Given the description of an element on the screen output the (x, y) to click on. 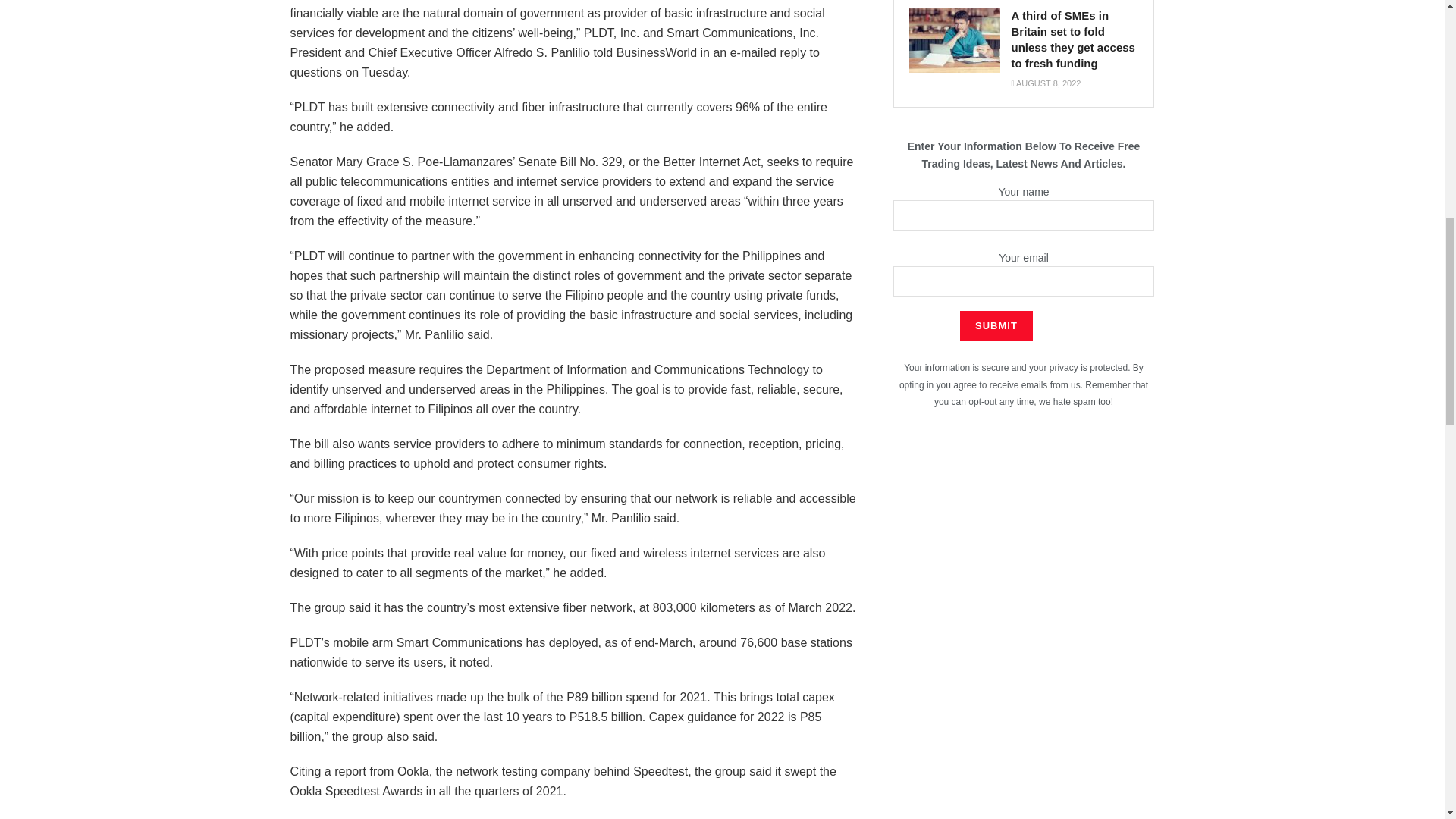
Submit (995, 326)
